Given the description of an element on the screen output the (x, y) to click on. 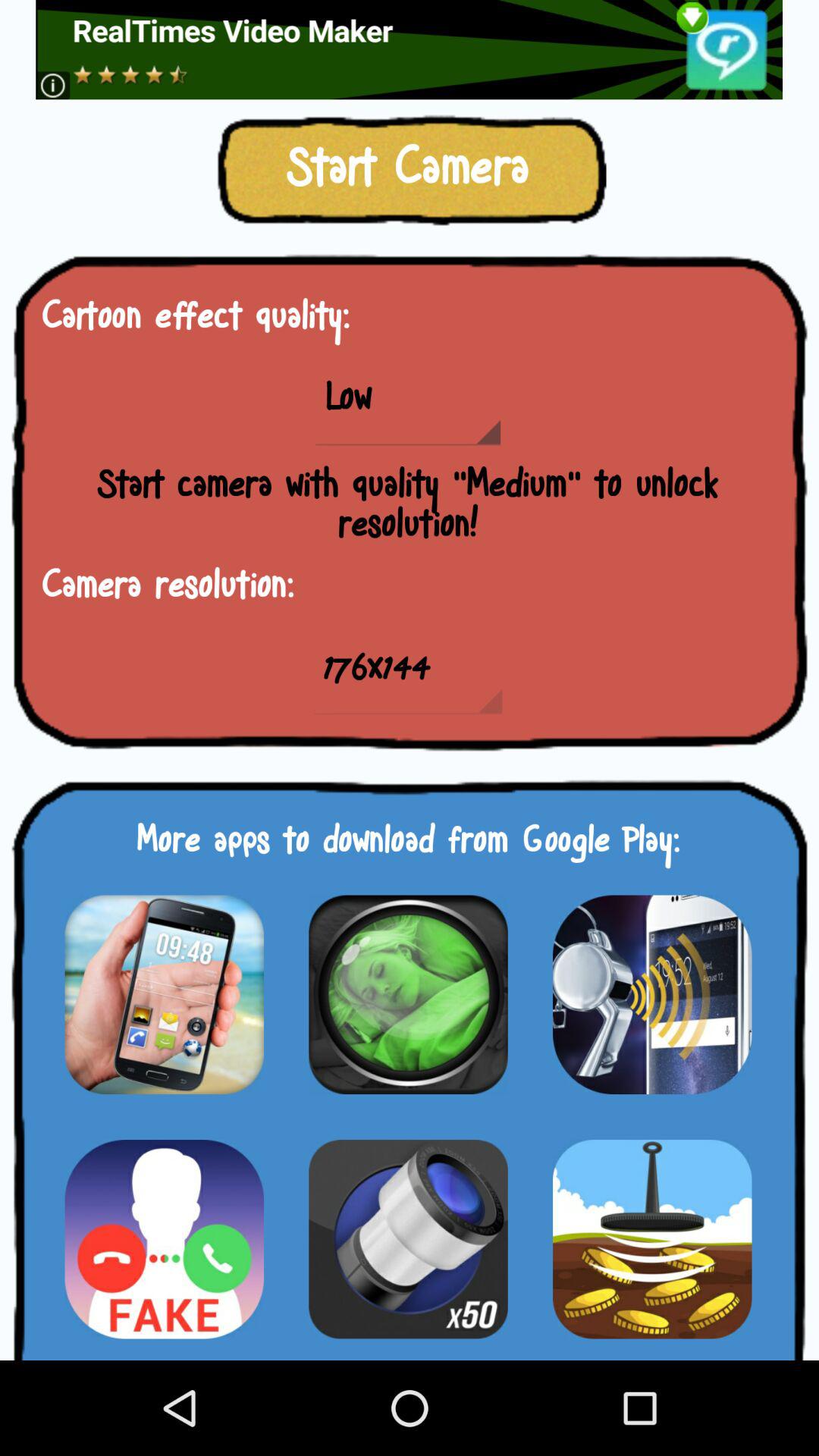
click camera lens (408, 994)
